Given the description of an element on the screen output the (x, y) to click on. 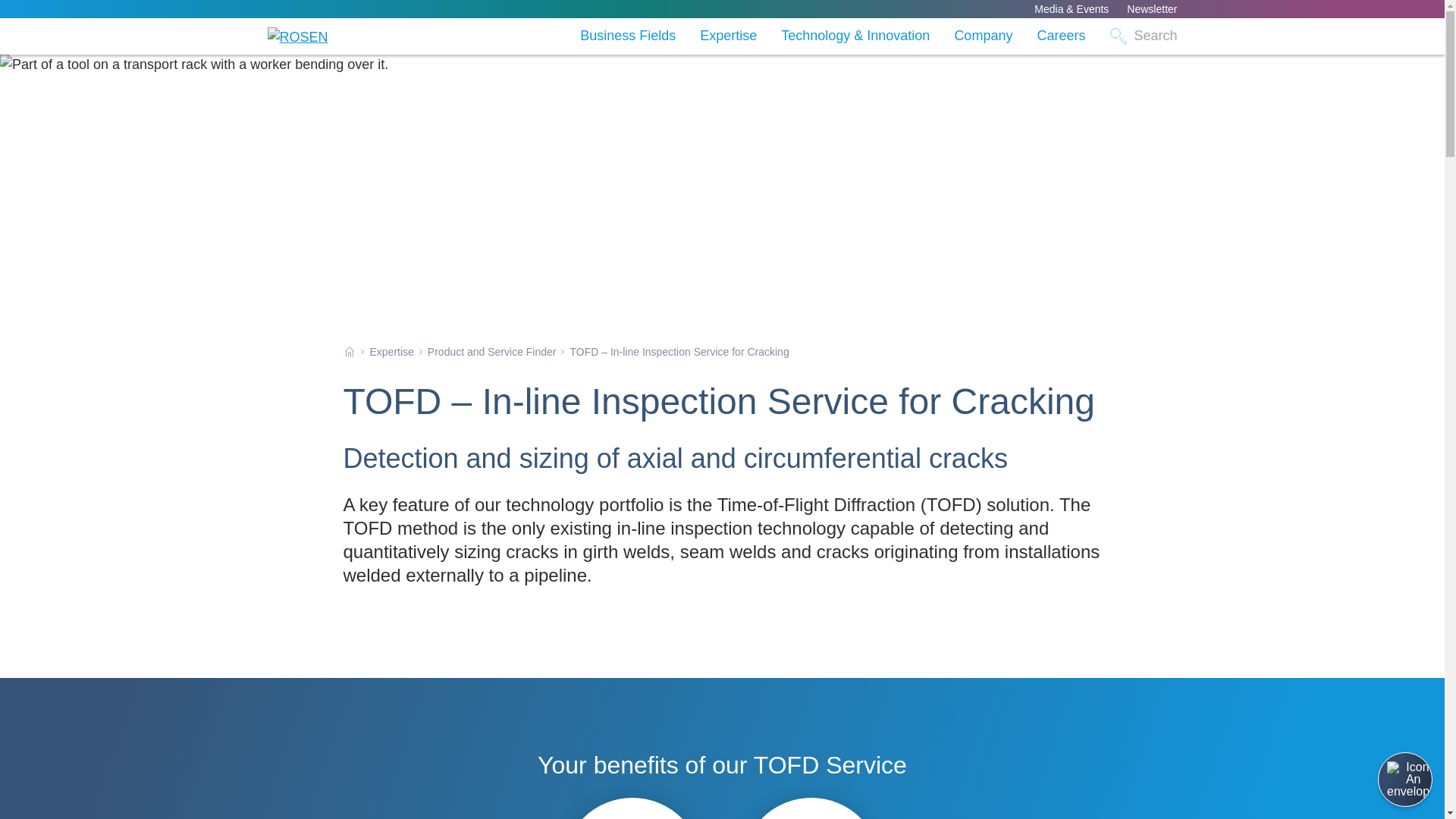
Newsletter (1151, 9)
Careers (1060, 36)
Business Fields (627, 36)
Company (982, 36)
Expertise (391, 351)
Expertise (728, 36)
Careers (1060, 36)
Expertise (728, 36)
Business Fields (627, 36)
Company (982, 36)
